Given the description of an element on the screen output the (x, y) to click on. 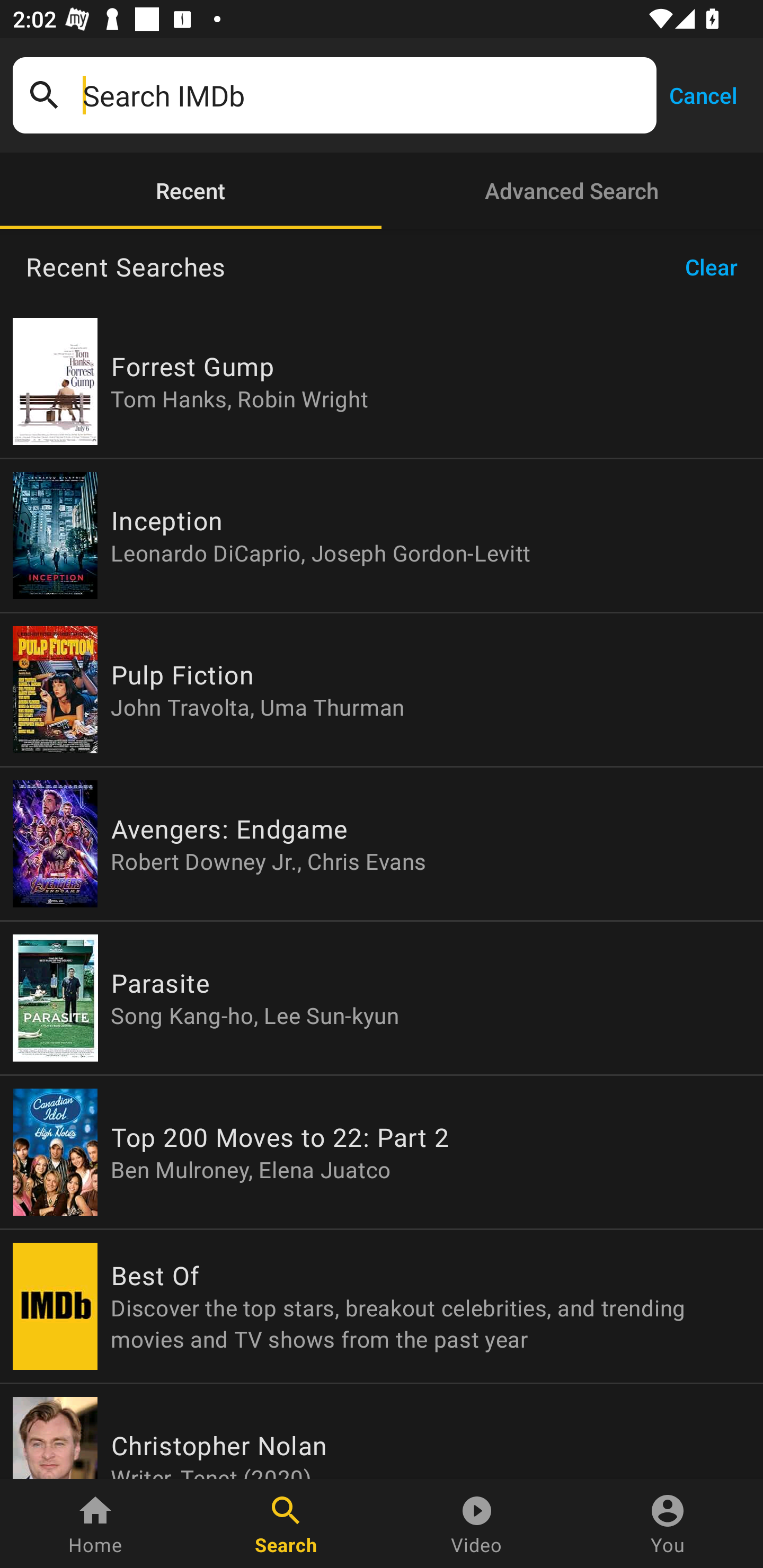
Cancel (703, 94)
Search IMDb (363, 95)
Advanced Search (572, 190)
Clear (717, 266)
Forrest Gump Tom Hanks, Robin Wright (381, 381)
Inception Leonardo DiCaprio, Joseph Gordon-Levitt (381, 535)
Pulp Fiction John Travolta, Uma Thurman (381, 689)
Avengers: Endgame Robert Downey Jr., Chris Evans (381, 844)
Parasite Song Kang-ho, Lee Sun-kyun (381, 997)
Christopher Nolan Writer, Tenet (2020) (381, 1431)
Home (95, 1523)
Video (476, 1523)
You (667, 1523)
